Given the description of an element on the screen output the (x, y) to click on. 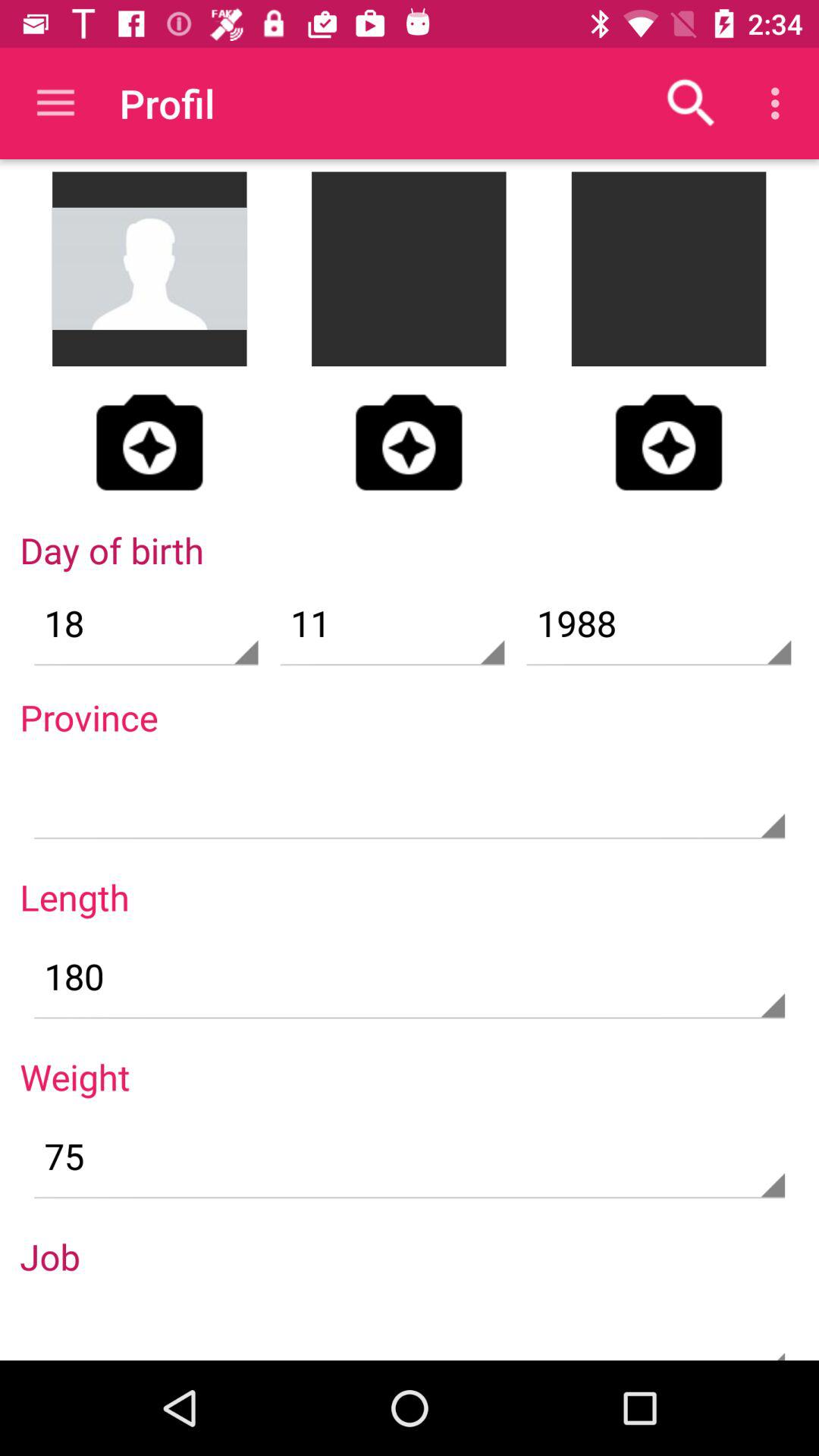
take a photo (149, 442)
